Given the description of an element on the screen output the (x, y) to click on. 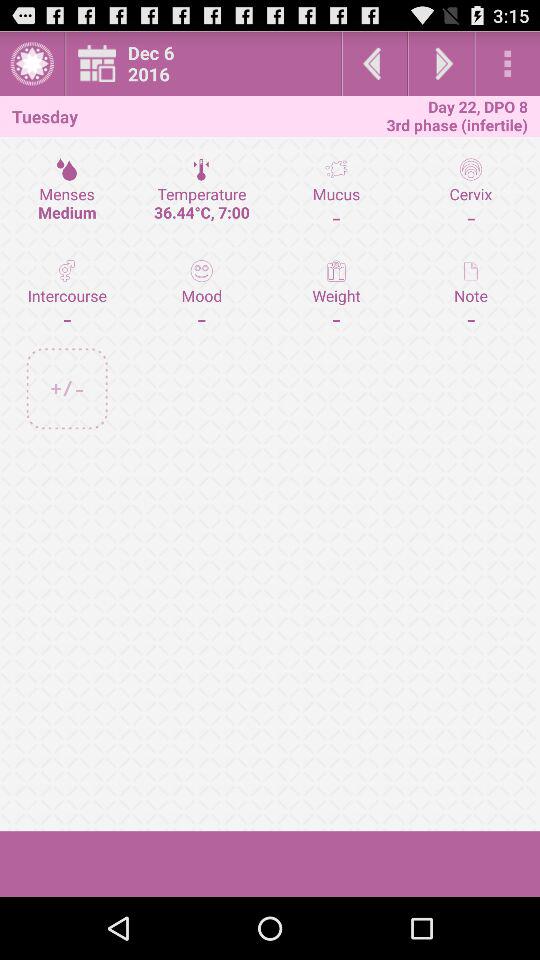
go to settings (507, 63)
